Given the description of an element on the screen output the (x, y) to click on. 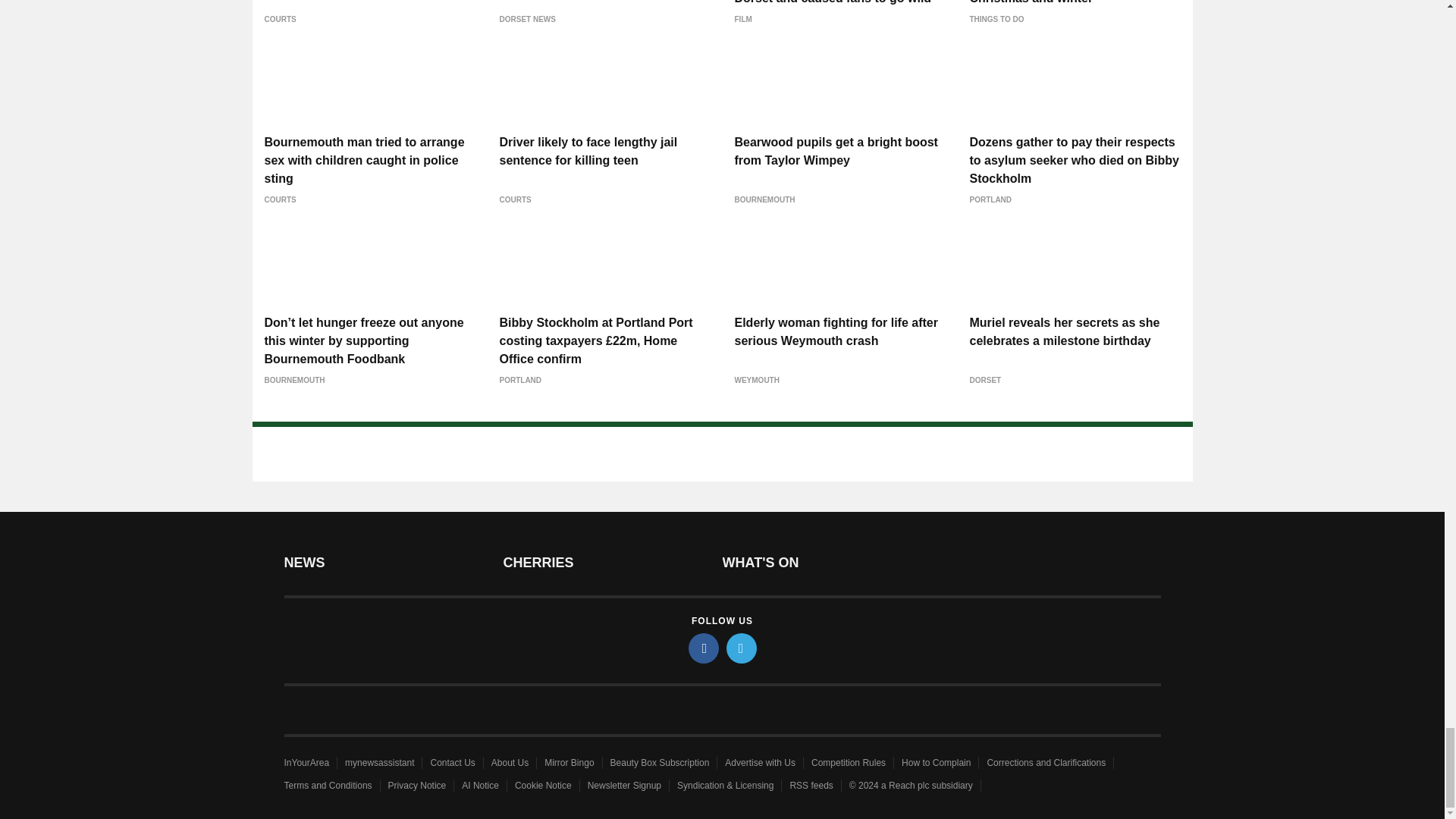
twitter (741, 648)
facebook (703, 648)
